Given the description of an element on the screen output the (x, y) to click on. 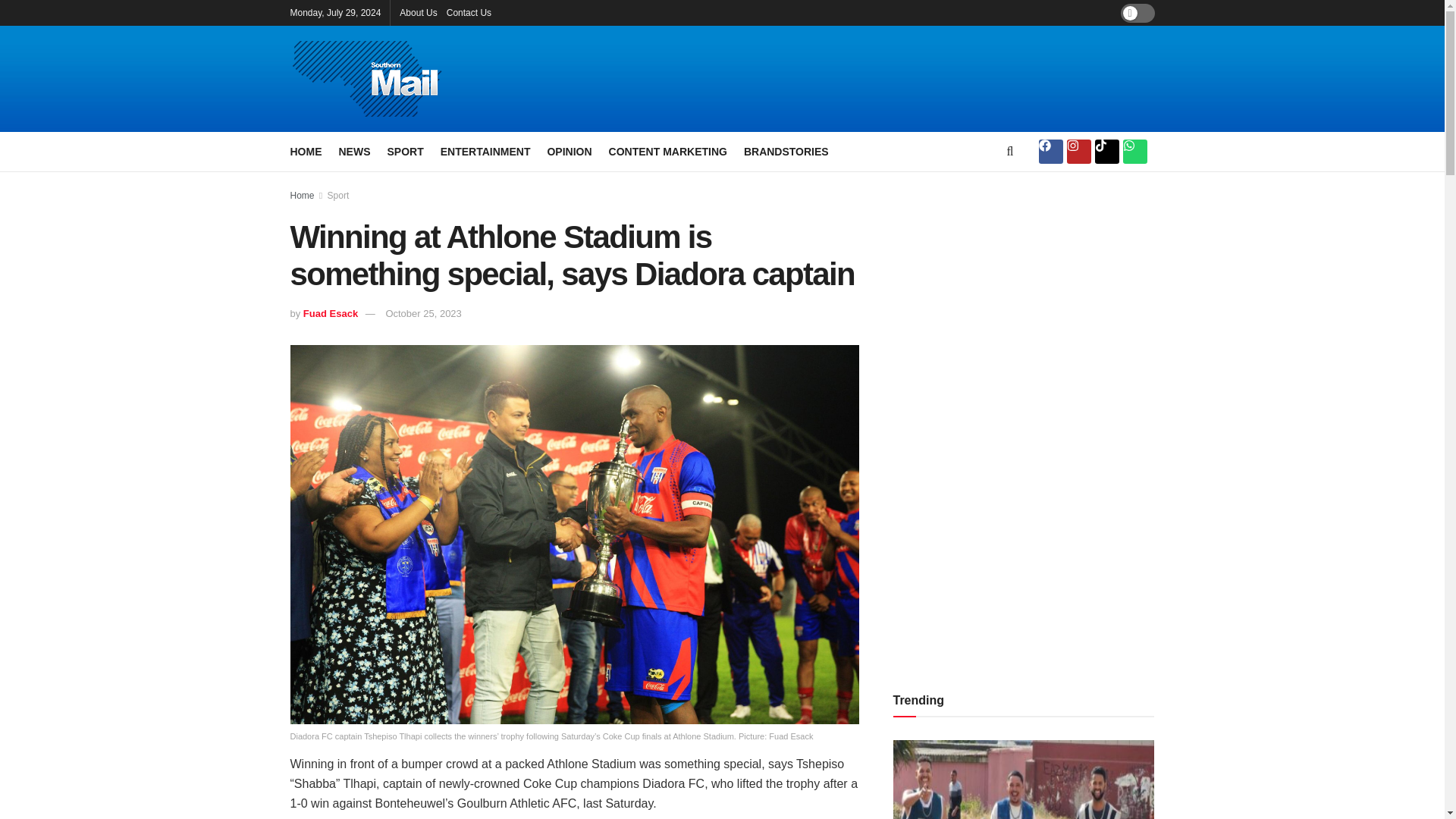
SPORT (405, 151)
October 25, 2023 (423, 313)
Fuad Esack (330, 313)
3rd party ad content (888, 79)
OPINION (569, 151)
Contact Us (469, 12)
BRANDSTORIES (786, 151)
HOME (305, 151)
NEWS (353, 151)
About Us (417, 12)
ENTERTAINMENT (486, 151)
Home (301, 195)
CONTENT MARKETING (667, 151)
Sport (338, 195)
